Given the description of an element on the screen output the (x, y) to click on. 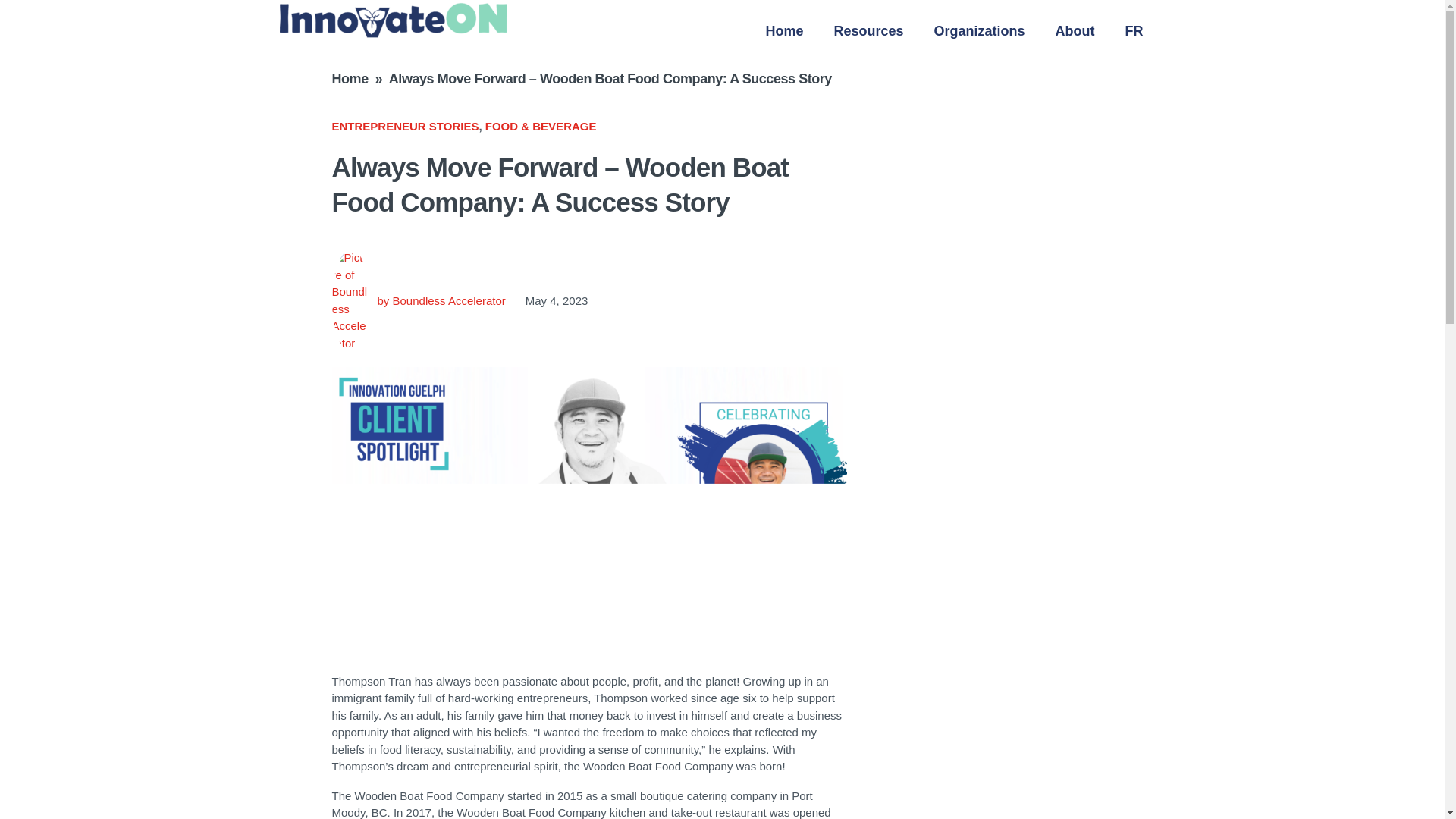
Organizations (979, 30)
Resources (868, 30)
About (1075, 30)
Home (349, 78)
FR (1133, 30)
Home (783, 30)
ENTREPRENEUR STORIES (405, 125)
